Given the description of an element on the screen output the (x, y) to click on. 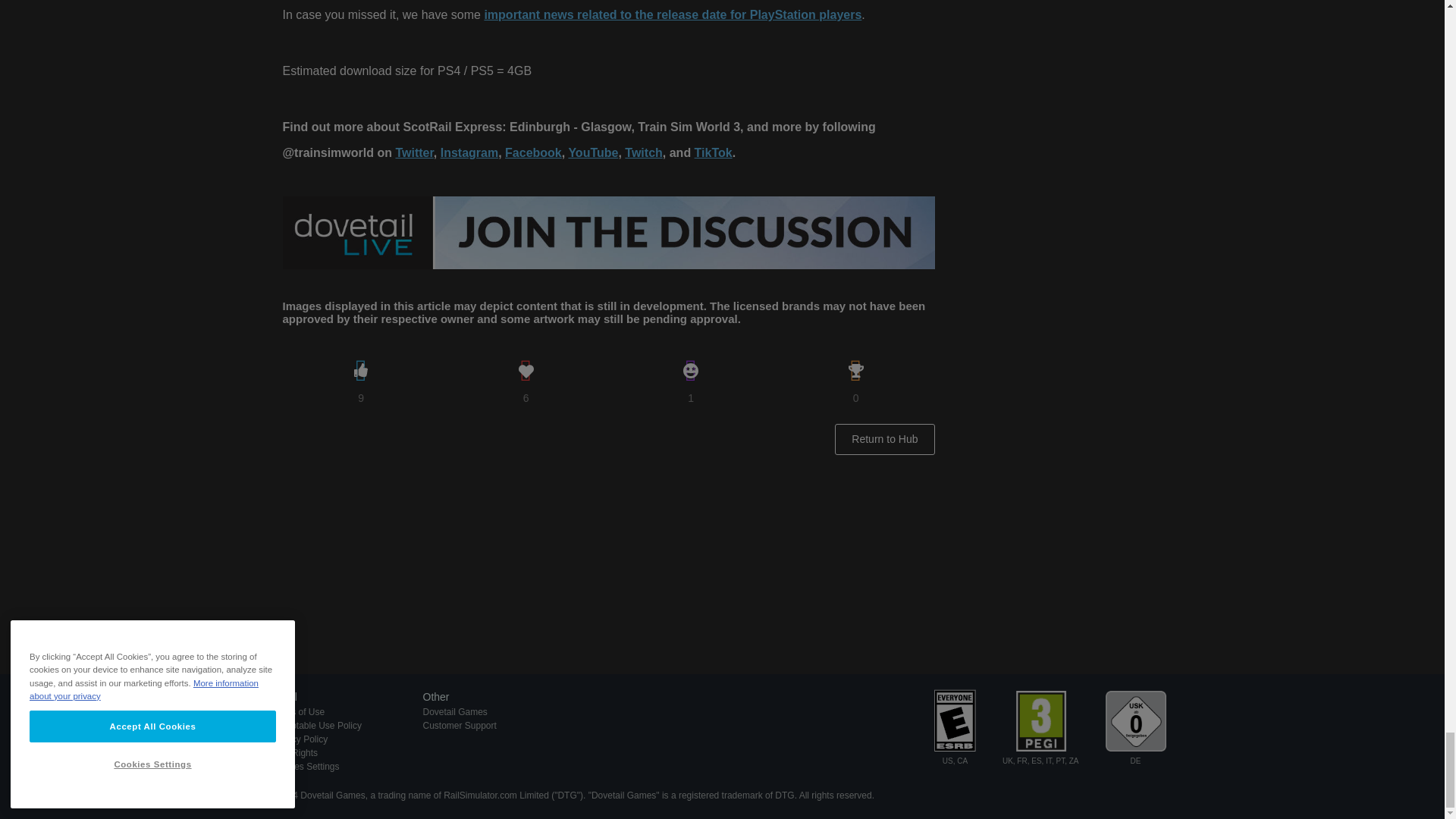
Wow (690, 370)
Love (526, 370)
Helpful (855, 370)
Like (360, 370)
